Given the description of an element on the screen output the (x, y) to click on. 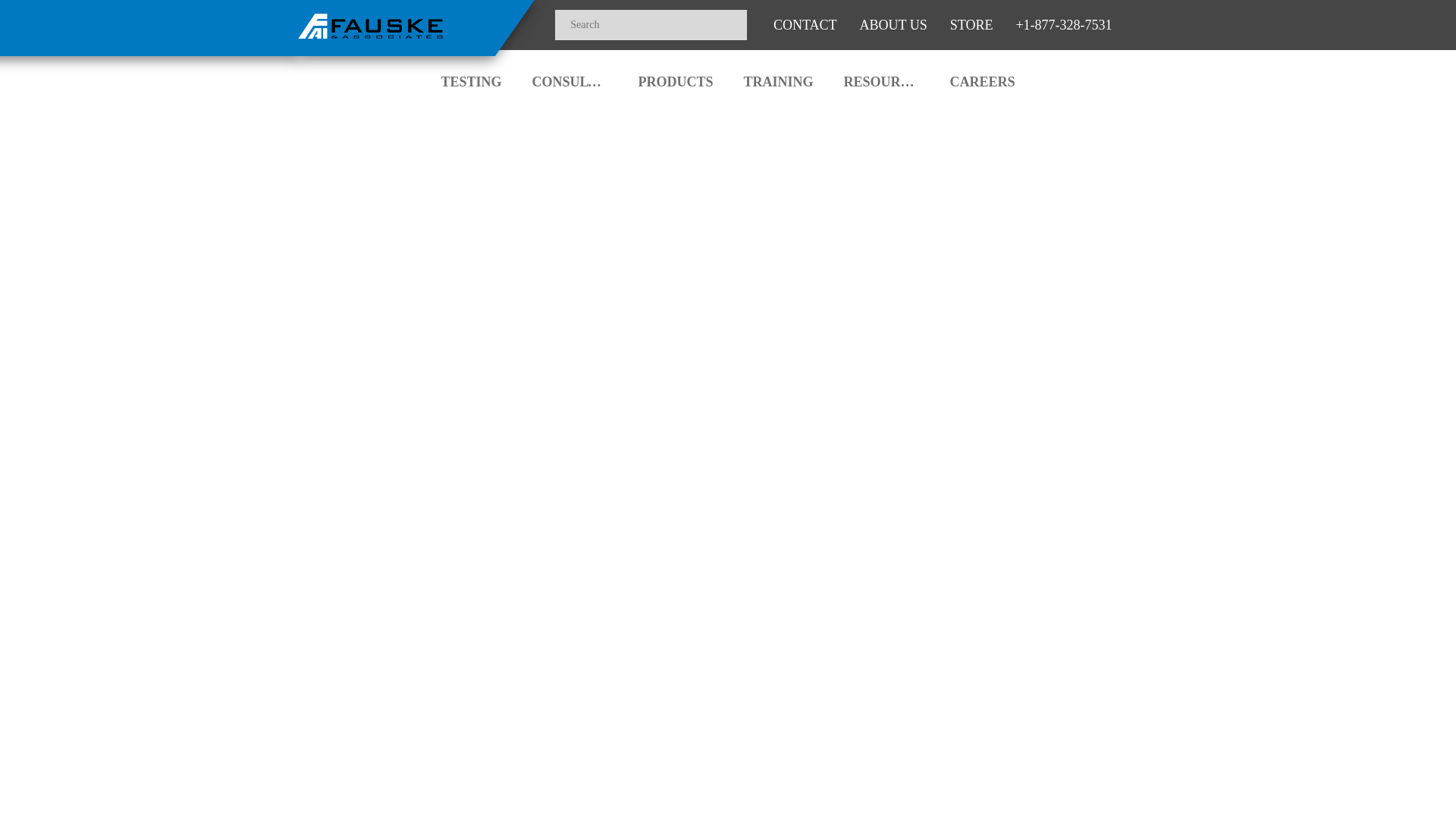
CAREERS (982, 76)
ABOUT US (893, 24)
TESTING (470, 76)
STORE (971, 24)
CONSULTING (569, 76)
RESOURCES (881, 76)
TRAINING (778, 76)
PRODUCTS (675, 76)
CONTACT (804, 24)
Fauske-logo-white-black--website-header-req-quote-200 (370, 25)
